Given the description of an element on the screen output the (x, y) to click on. 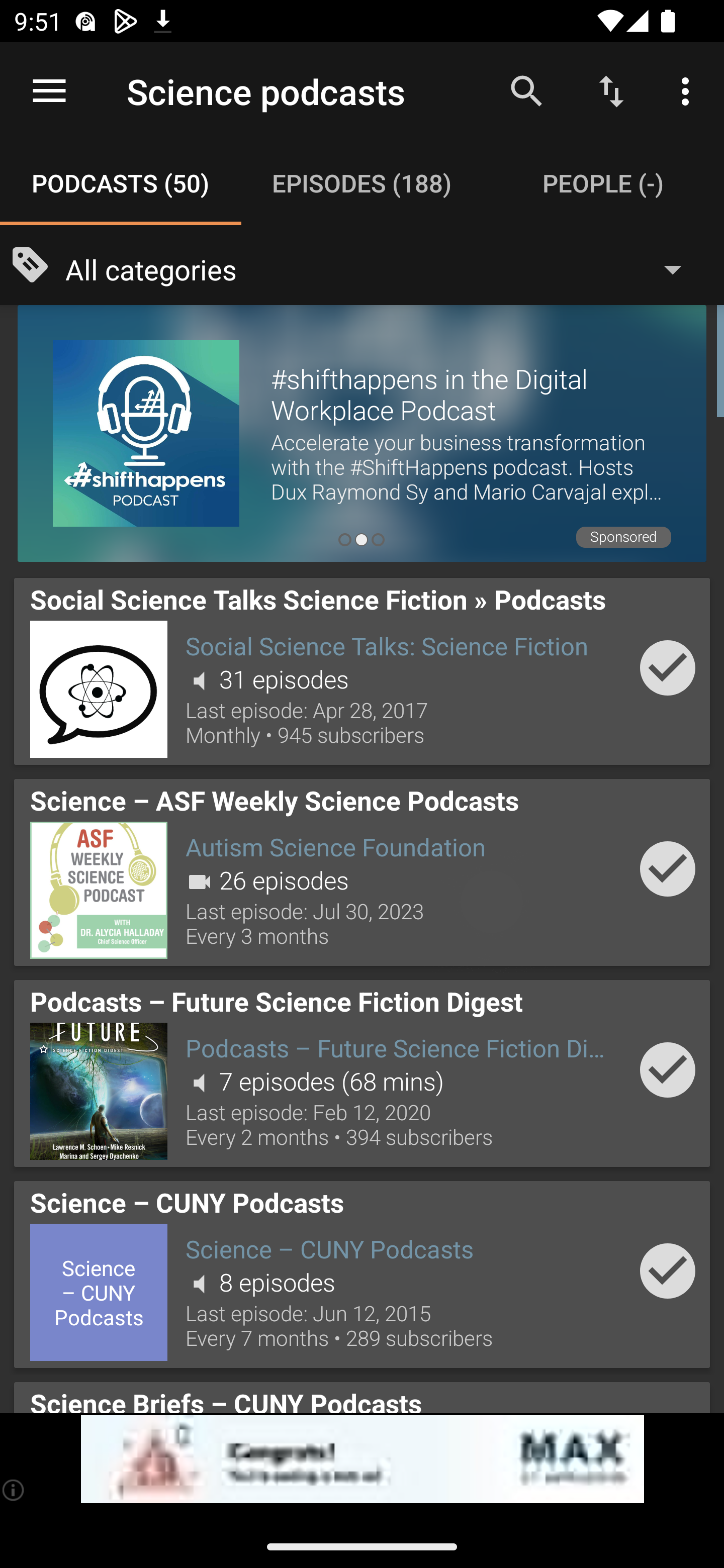
Open navigation sidebar (49, 91)
Search (526, 90)
Sort (611, 90)
More options (688, 90)
Episodes (188) EPISODES (188) (361, 183)
People (-) PEOPLE (-) (603, 183)
All categories (383, 268)
Add (667, 667)
Add (667, 868)
Add (667, 1069)
Add (667, 1271)
app-monetization (362, 1459)
(i) (14, 1489)
